Given the description of an element on the screen output the (x, y) to click on. 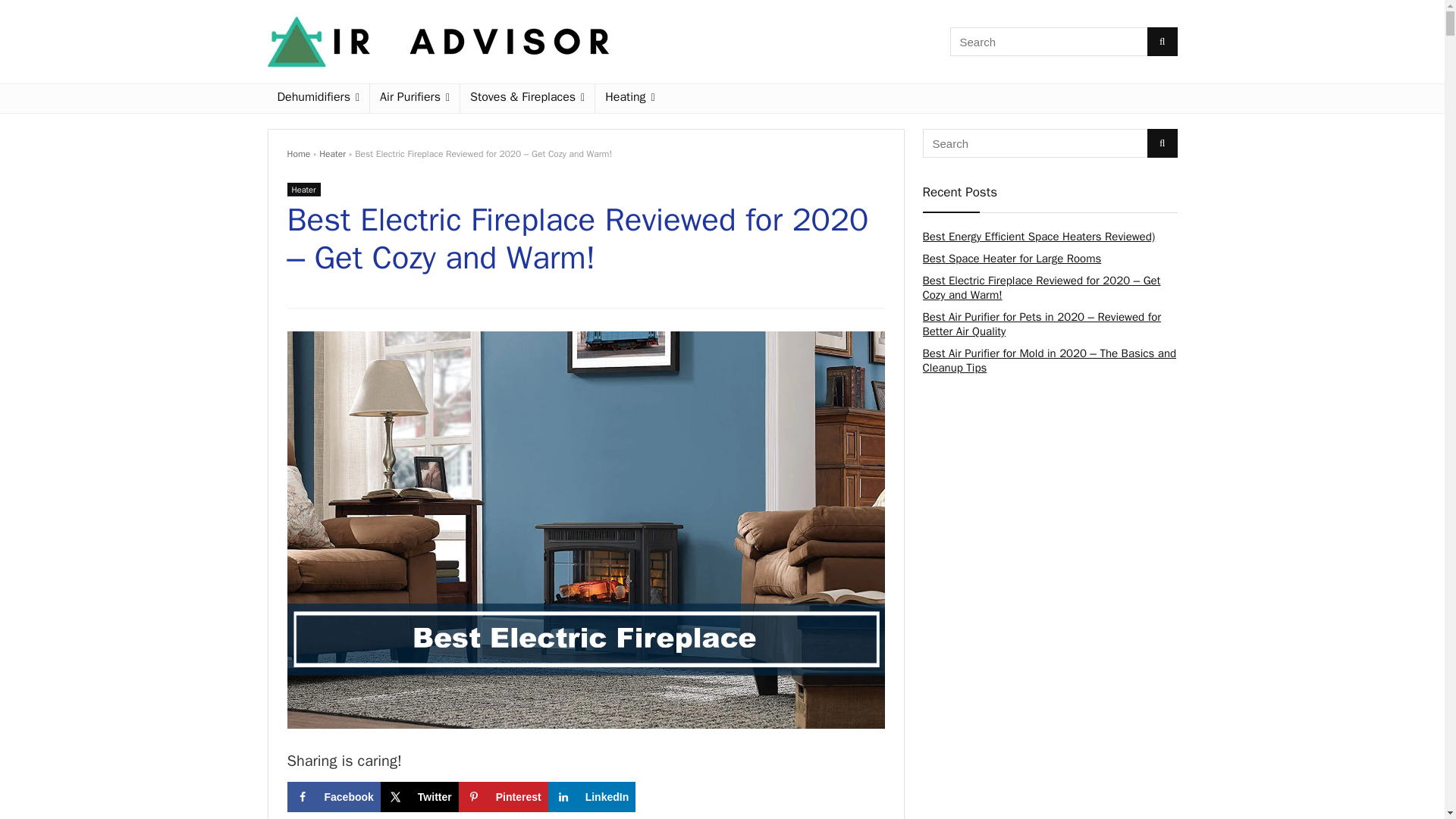
Heater (332, 153)
Facebook (333, 797)
Share on Facebook (333, 797)
Heater (303, 189)
Dehumidifiers (317, 98)
Share on LinkedIn (592, 797)
Twitter (419, 797)
Home (298, 153)
Share on X (419, 797)
Save to Pinterest (503, 797)
Air Purifiers (414, 98)
Heating (629, 98)
View all posts in Heater (303, 189)
Pinterest (503, 797)
LinkedIn (592, 797)
